Given the description of an element on the screen output the (x, y) to click on. 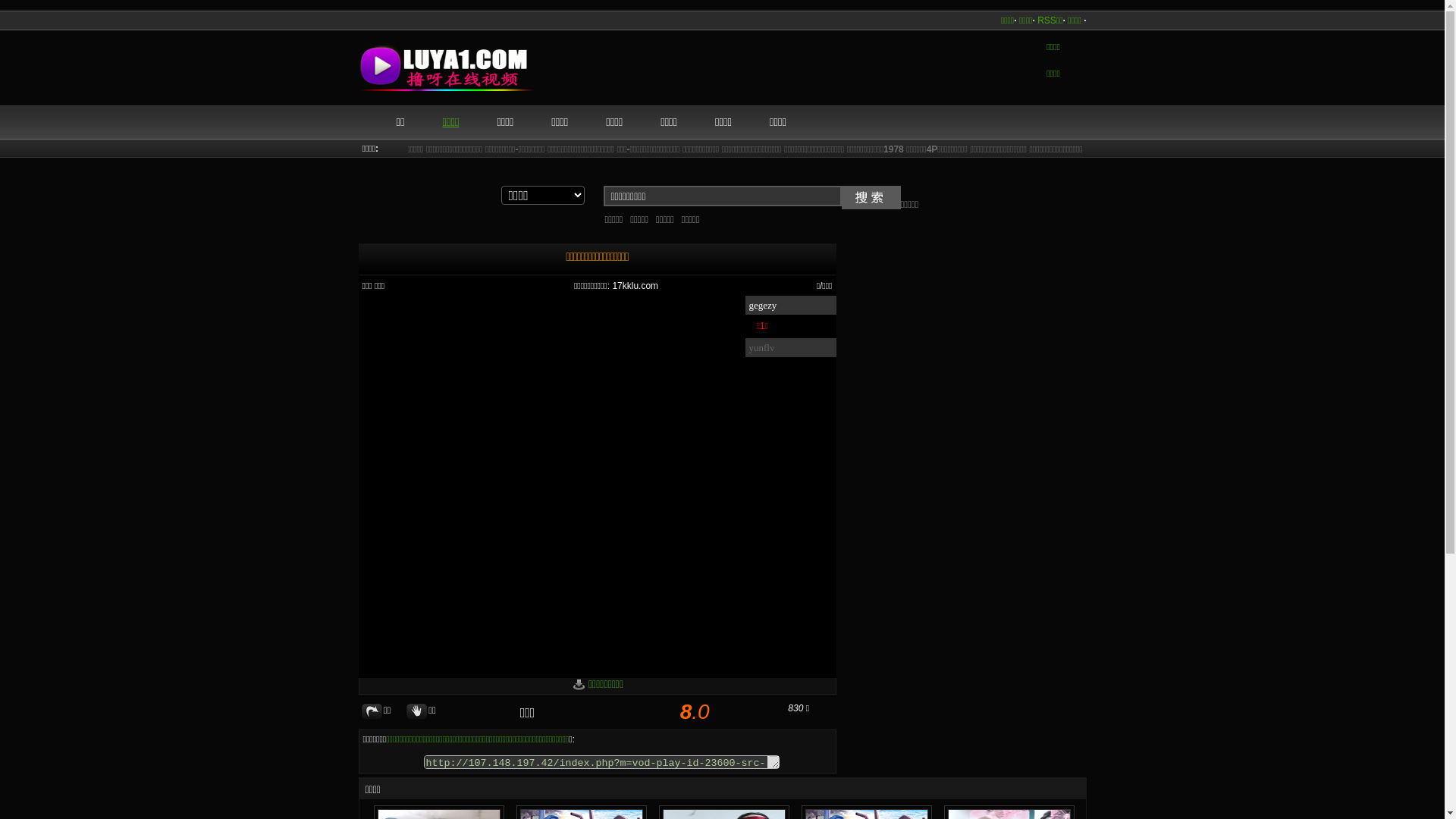
3 Element type: text (584, 714)
gegezy Element type: text (789, 304)
1 Element type: text (569, 714)
4 Element type: text (592, 714)
6 Element type: text (607, 714)
5 Element type: text (599, 714)
2 Element type: text (576, 714)
10 Element type: text (637, 714)
8 Element type: text (622, 714)
9 Element type: text (629, 714)
yunflv Element type: text (789, 347)
7 Element type: text (614, 714)
